Given the description of an element on the screen output the (x, y) to click on. 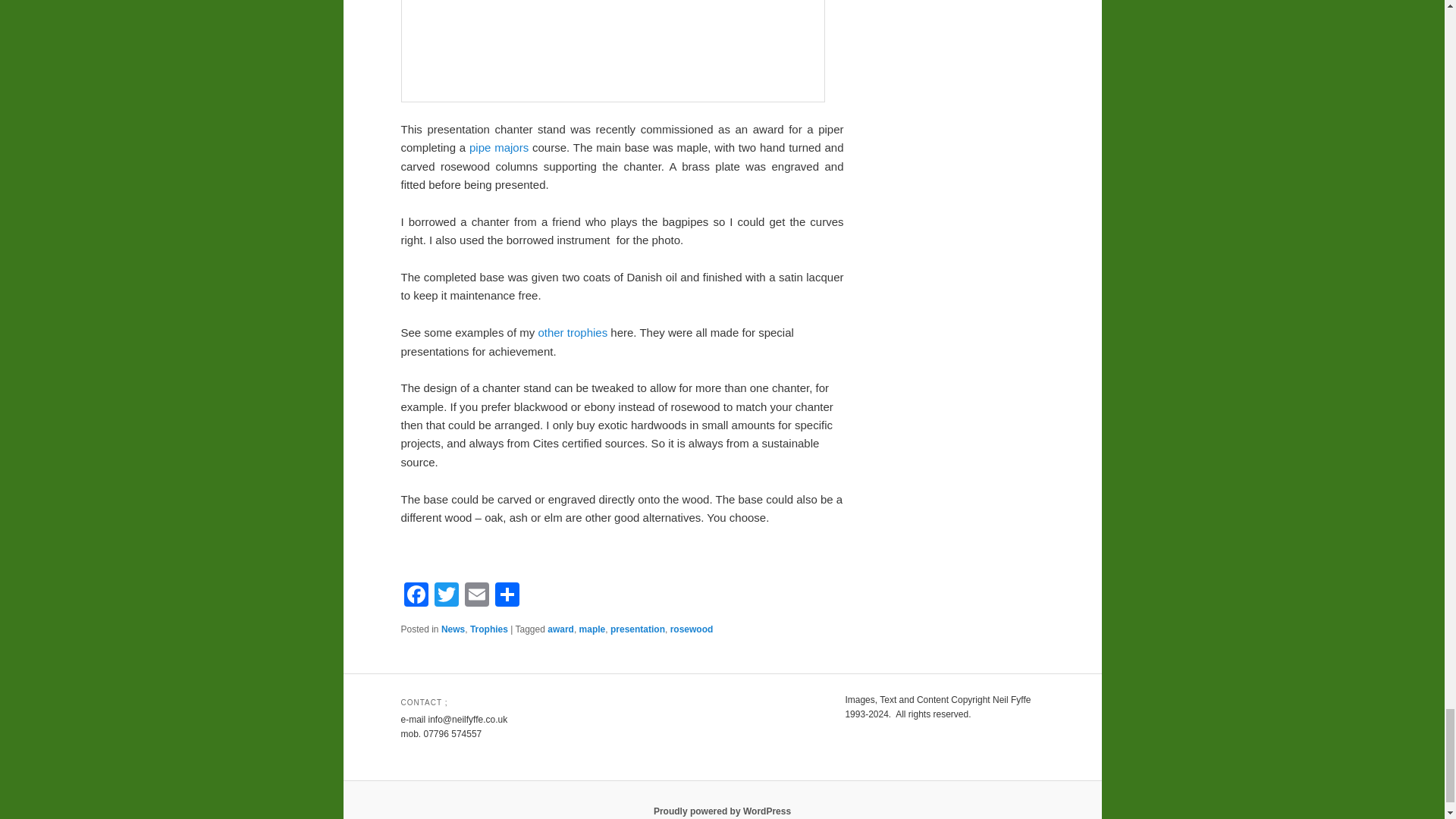
Facebook (415, 596)
